Given the description of an element on the screen output the (x, y) to click on. 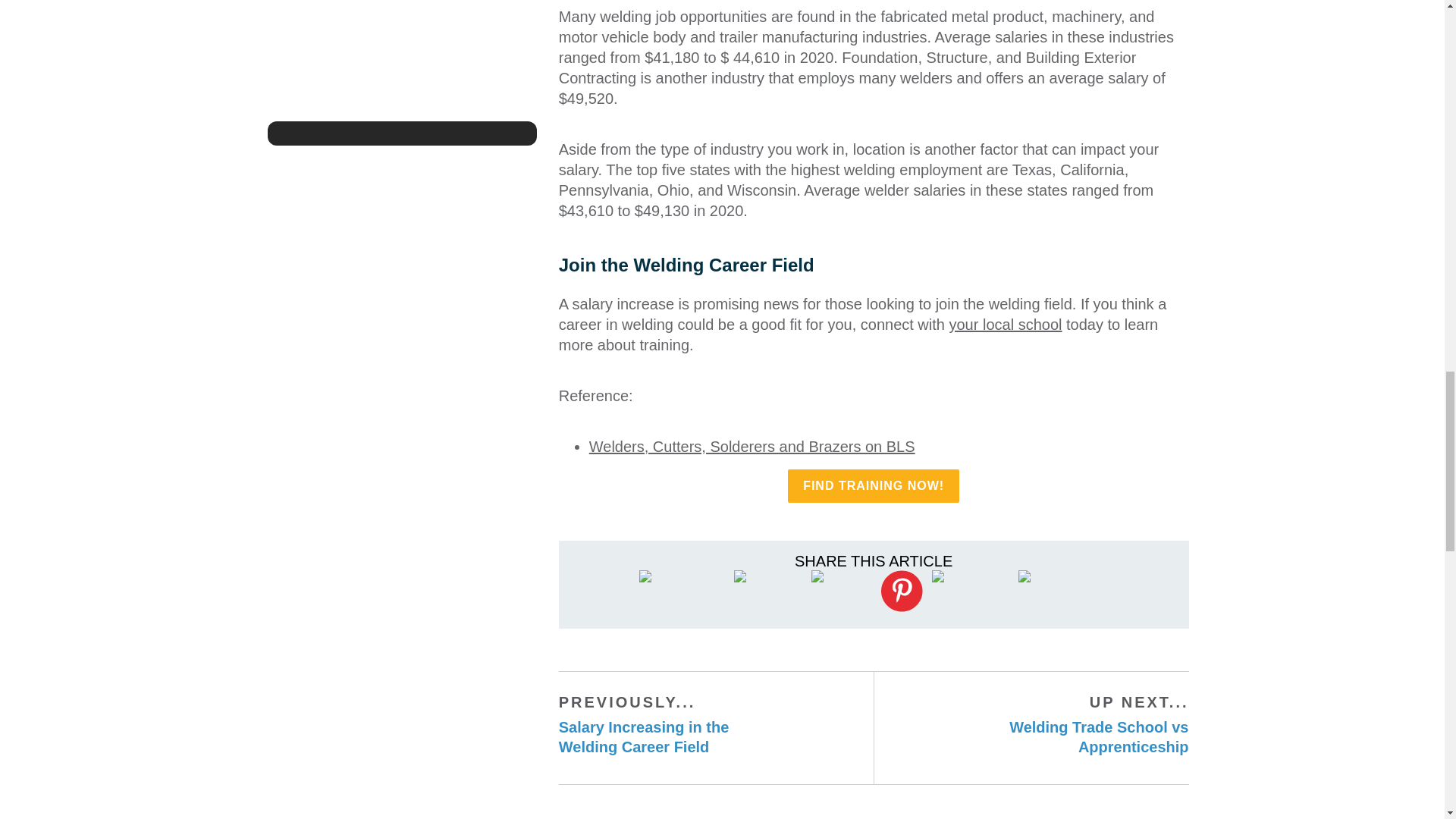
FIND TRAINING NOW! (873, 485)
find local welding schools (1005, 324)
Salary Increasing in the Welding Career Field (1078, 732)
Welders, Cutters, Solderers and Brazers on BLS (668, 732)
Welders, Cutters, Solderers and Brazers on BLS (752, 446)
FIND TRAINING NOW! (668, 732)
Pin It (752, 446)
Welding Trade School vs Apprenticeship (873, 485)
your local school (901, 590)
